Given the description of an element on the screen output the (x, y) to click on. 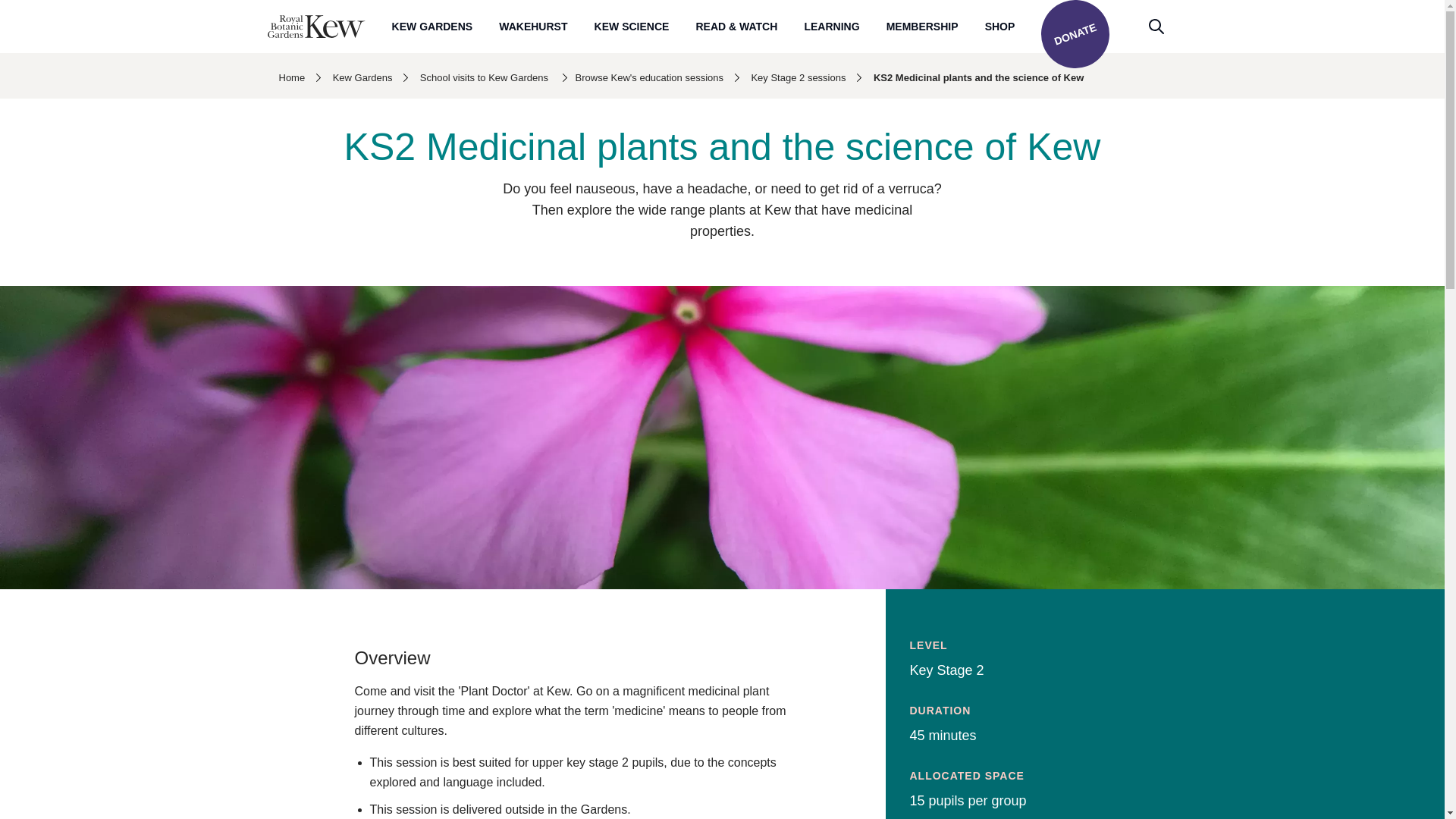
LEARNING (831, 26)
Kew Gardens (432, 26)
Wakehurst (533, 26)
MEMBERSHIP (922, 26)
Kew Science (631, 26)
KEW SCIENCE (631, 26)
WAKEHURST (533, 26)
KEW GARDENS (432, 26)
